Given the description of an element on the screen output the (x, y) to click on. 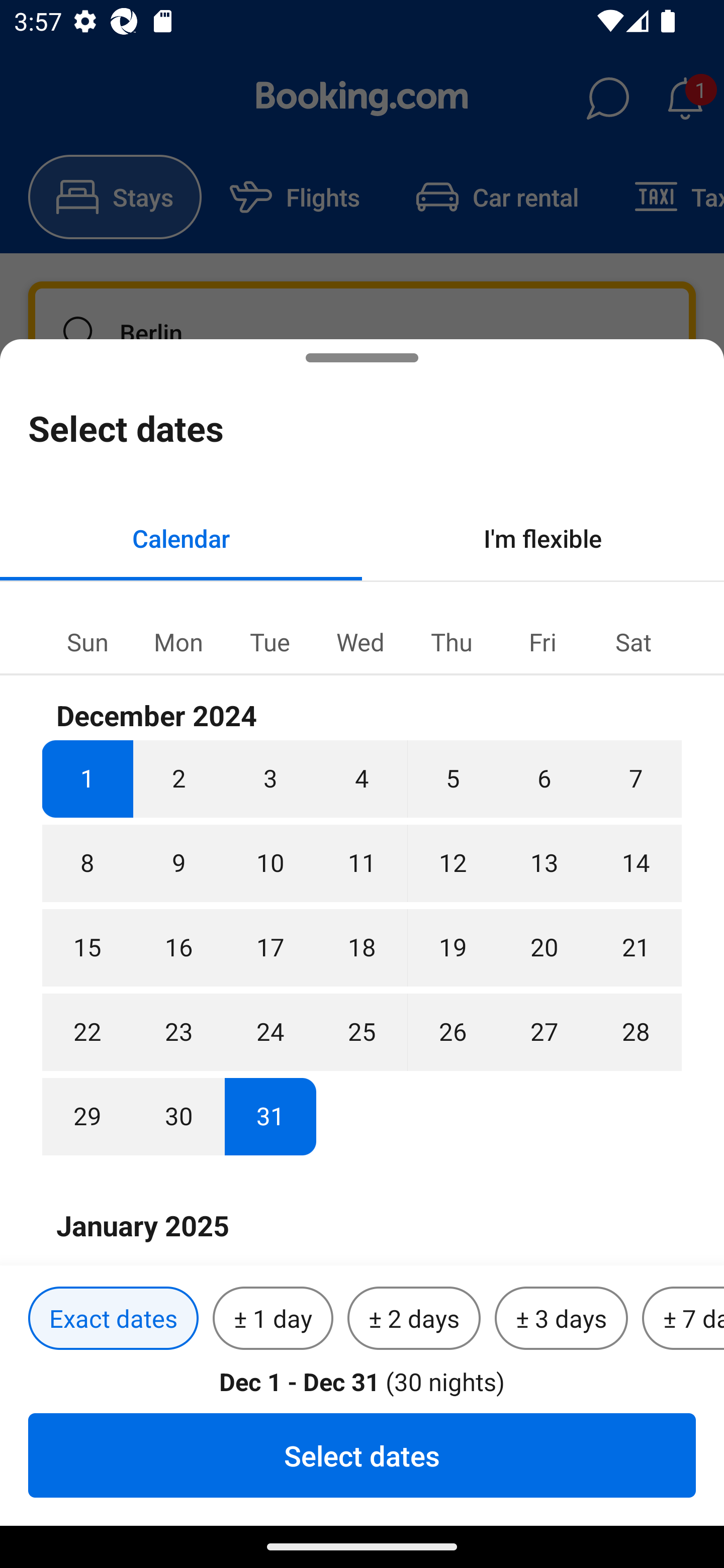
I'm flexible (543, 537)
Exact dates (113, 1318)
± 1 day (272, 1318)
± 2 days (413, 1318)
± 3 days (560, 1318)
± 7 days (683, 1318)
Select dates (361, 1454)
